Given the description of an element on the screen output the (x, y) to click on. 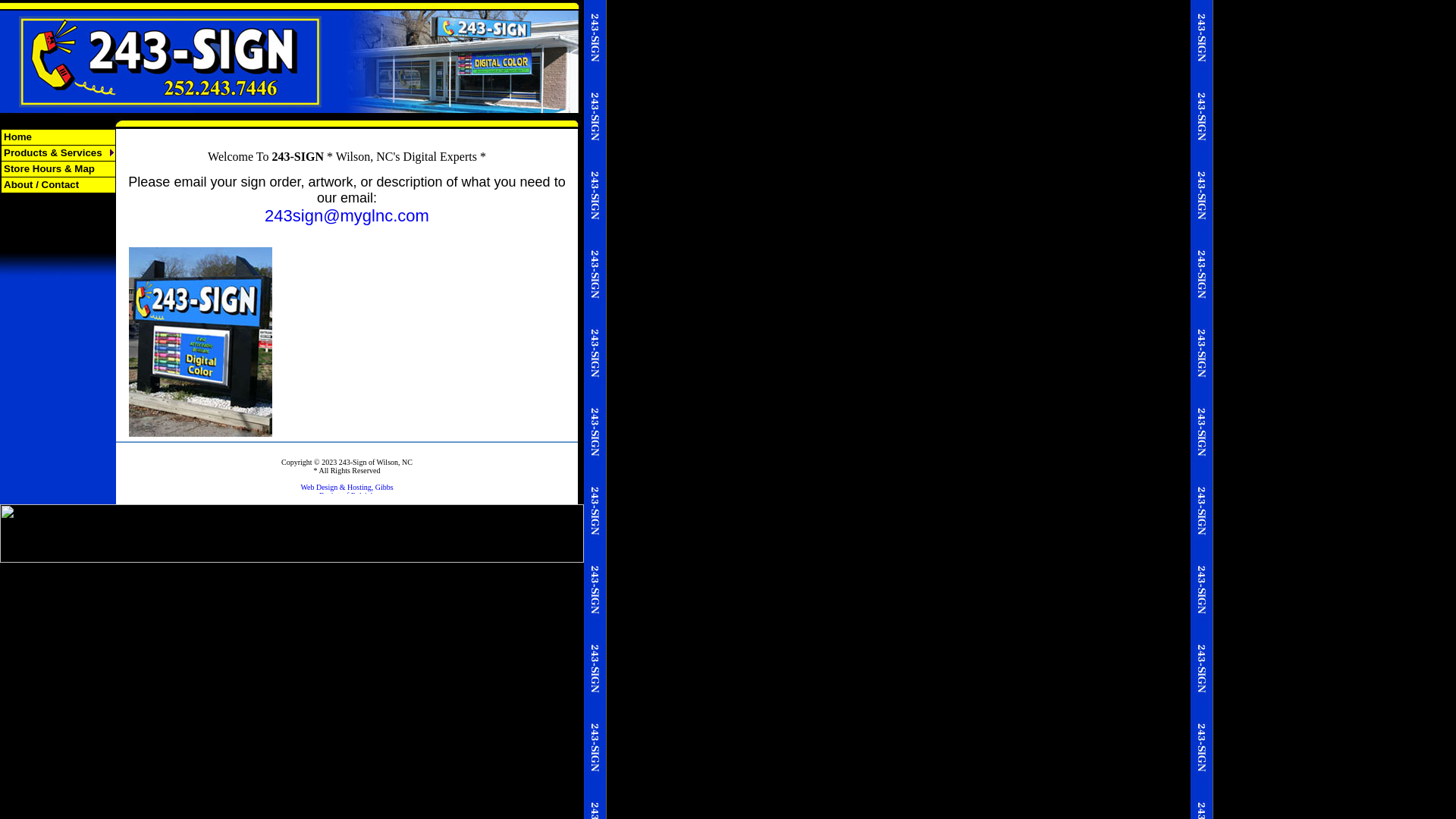
243sign@myglnc.com Element type: text (346, 215)
Gibbs Design of Raleigh Element type: hover (346, 496)
